Given the description of an element on the screen output the (x, y) to click on. 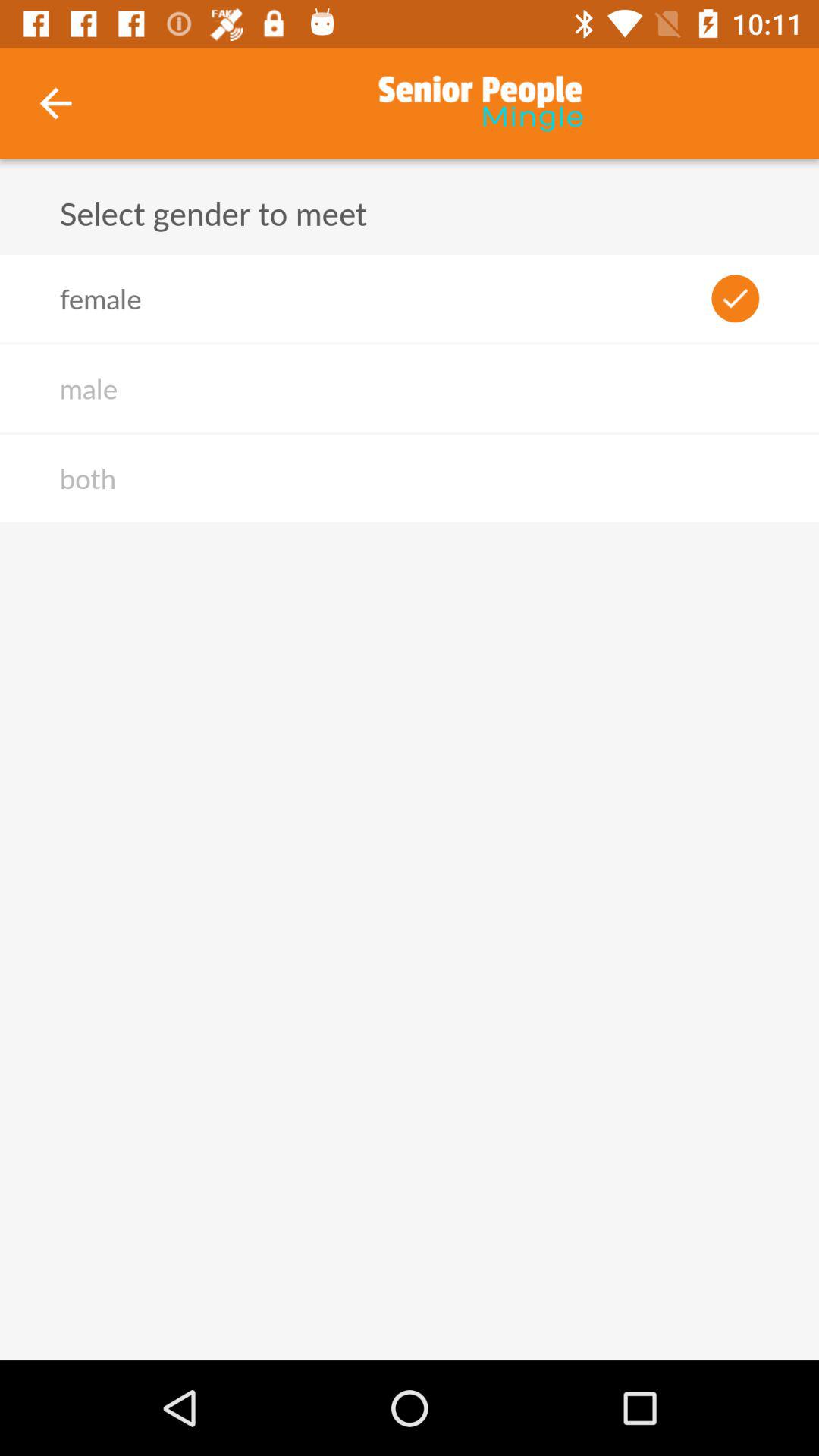
swipe until male icon (88, 388)
